Given the description of an element on the screen output the (x, y) to click on. 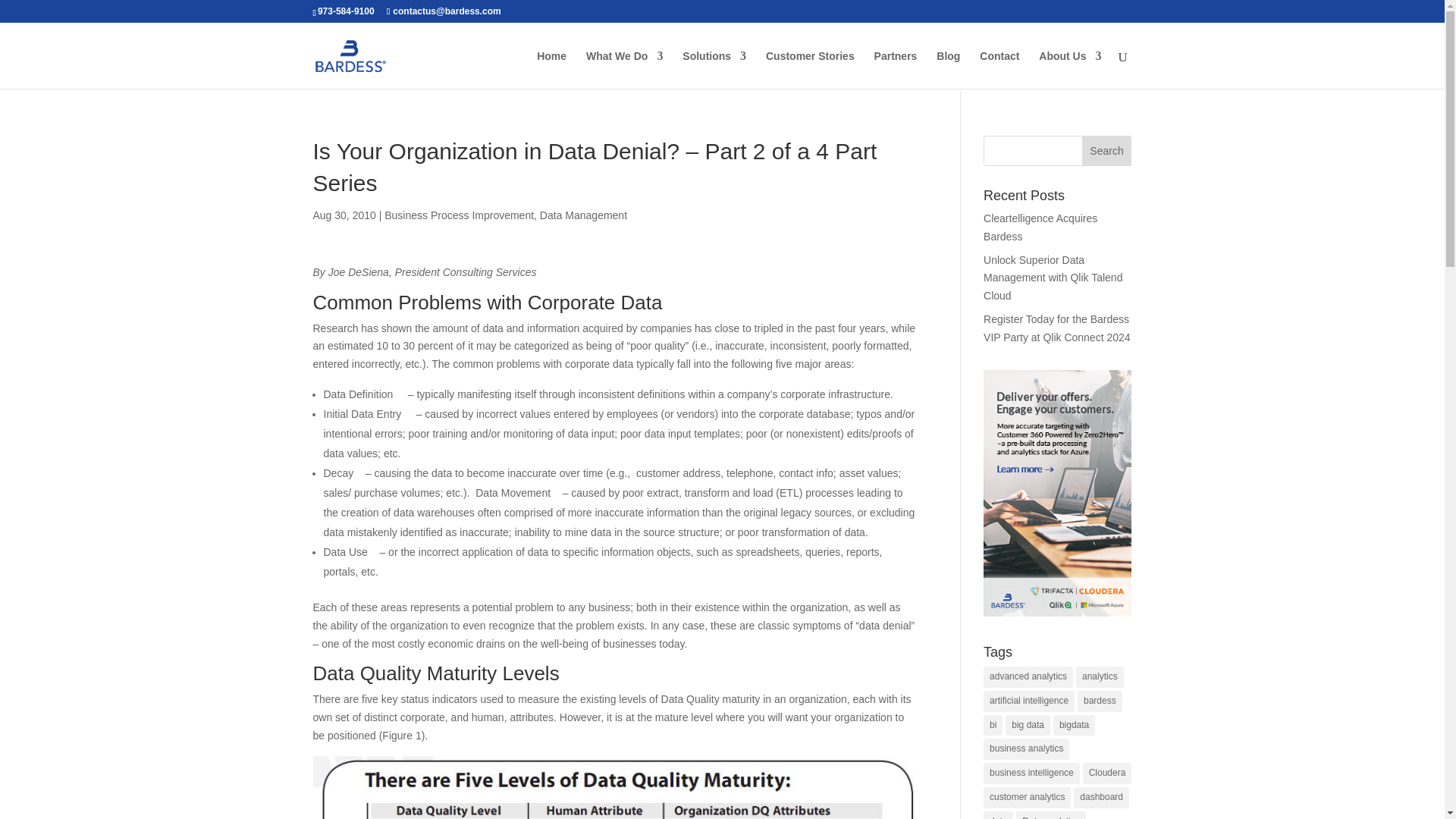
Customer Stories (809, 69)
Partners (896, 69)
Solutions (713, 69)
What We Do (624, 69)
Figure1 (614, 787)
About Us (1069, 69)
Search (1106, 150)
Contact (999, 69)
